Given the description of an element on the screen output the (x, y) to click on. 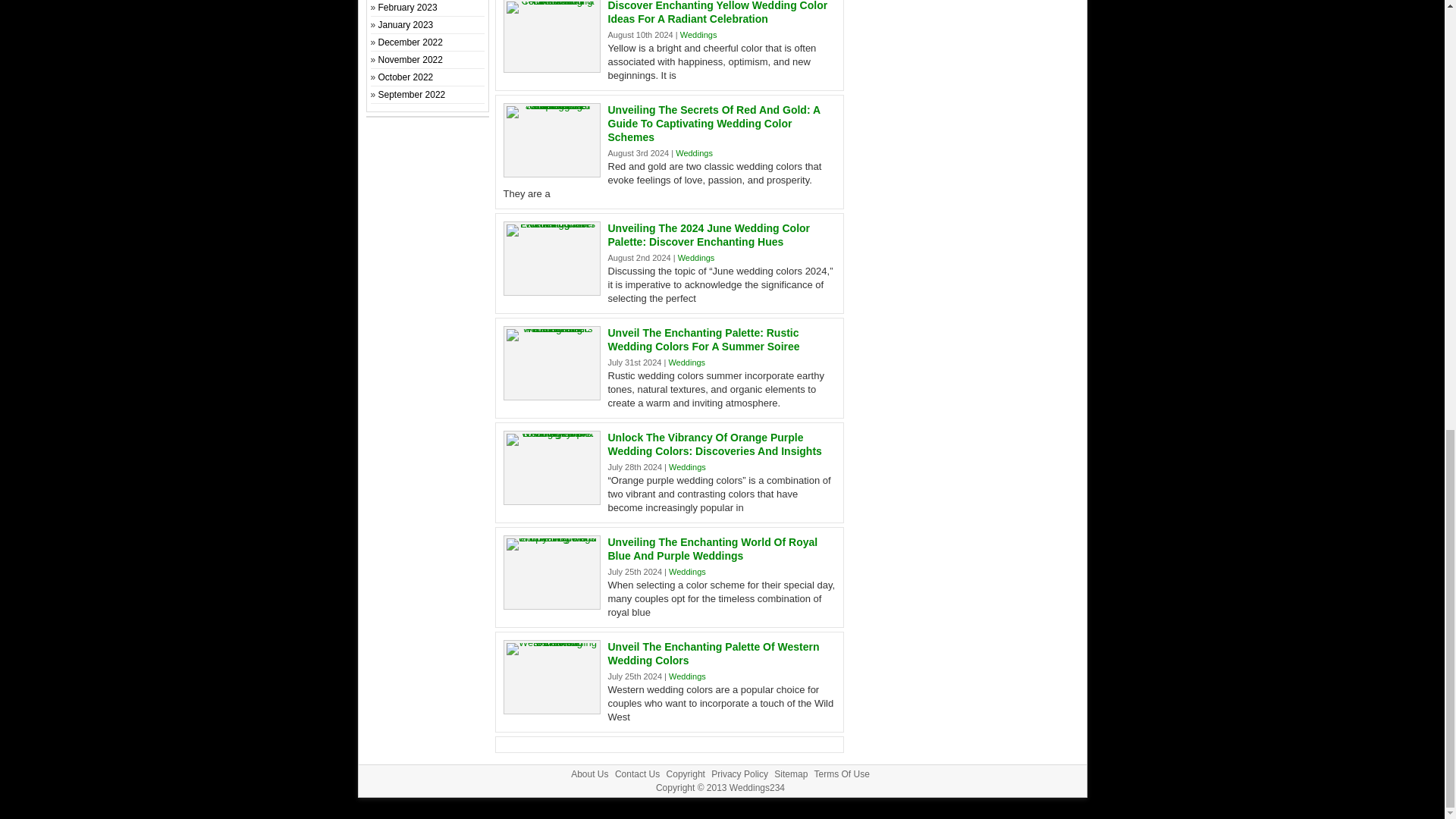
Weddings (687, 466)
Weddings (687, 571)
Weddings (696, 257)
Weddings (686, 361)
